Given the description of an element on the screen output the (x, y) to click on. 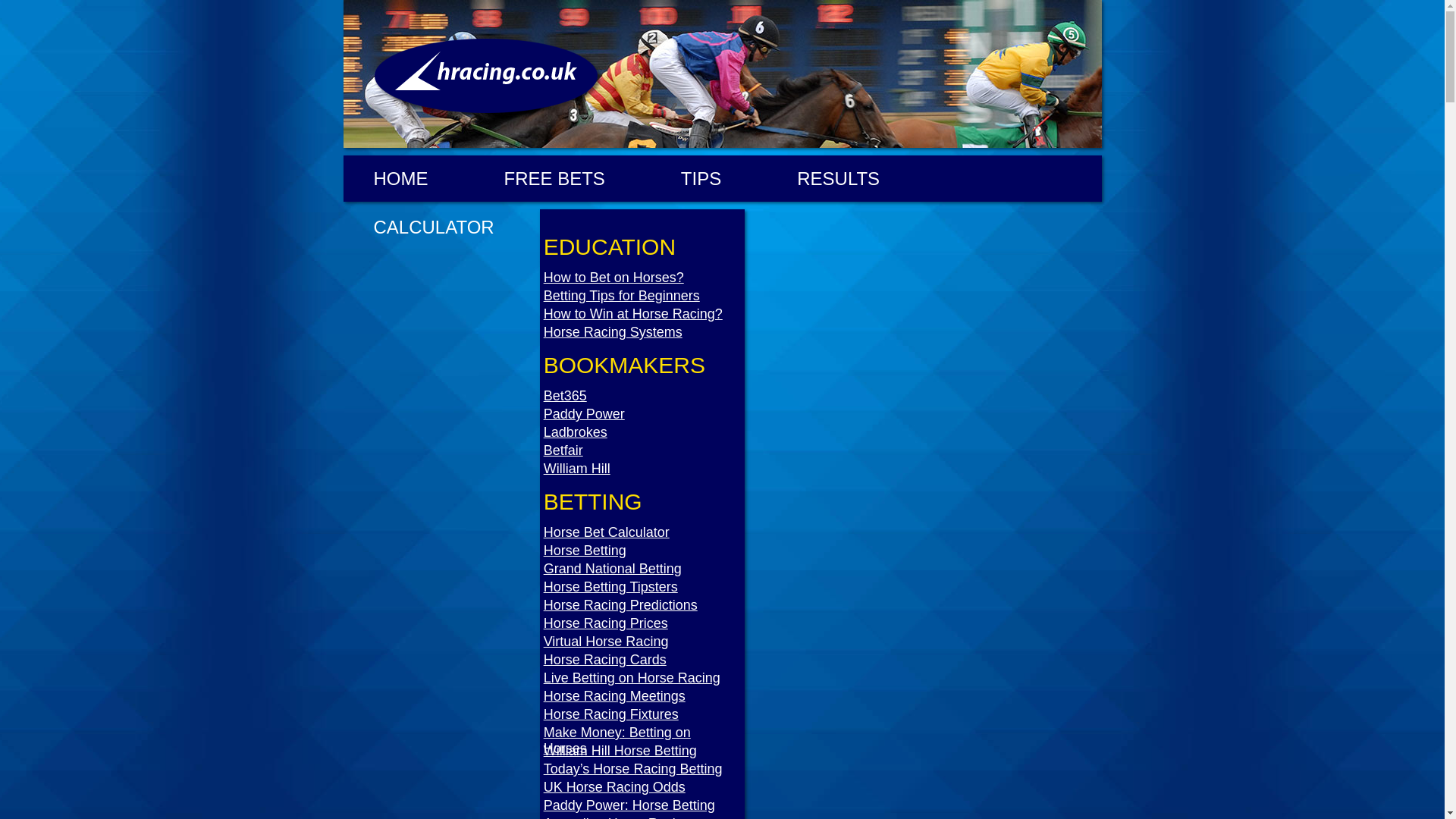
Horse Bet Calculator (643, 532)
William Hill (643, 468)
How to Win at Horse Racing? (643, 313)
TIPS (700, 178)
Free Horse Racing Systems That Really Work (643, 332)
Horse Racing Predictions (643, 605)
Ladbrokes (643, 432)
Grand National Betting Sites (643, 568)
Horse Betting (643, 550)
Bet365 (643, 395)
Free Bet Offers on Grand National Horse Racing (553, 178)
Horse Bet Calculator (643, 532)
Betfair (643, 450)
Live Betting on Horse Racing (643, 678)
